Given the description of an element on the screen output the (x, y) to click on. 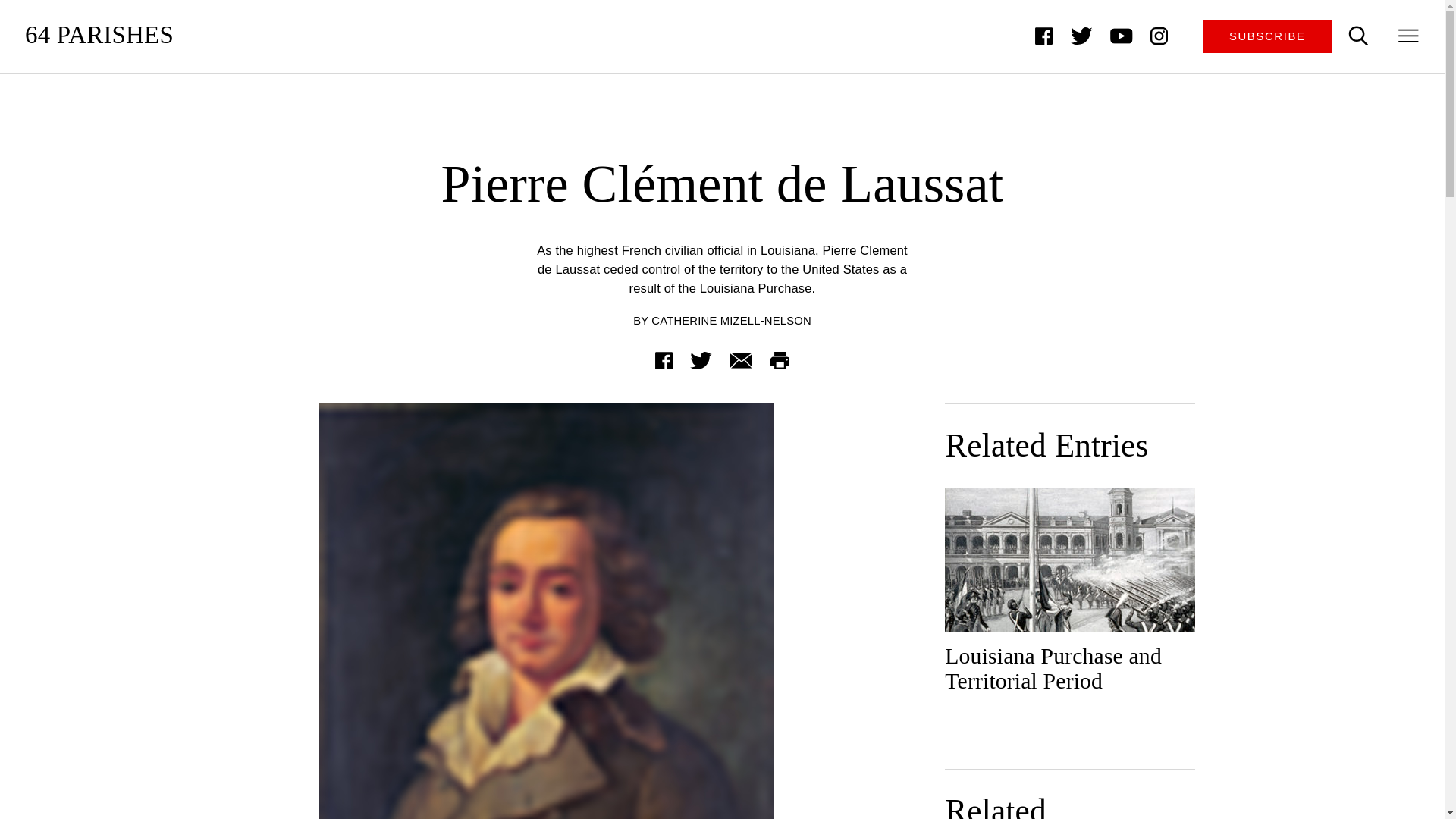
64 Parishes Home Page (98, 35)
Facebook (663, 360)
CATHERINE MIZELL-NELSON (730, 320)
Follow us on Twitter (1081, 36)
Follow us on YouTube (1121, 36)
SEARCH (1358, 35)
Print (779, 360)
Open the menu (1409, 35)
Follow us on Facebook (1043, 36)
Search the site (1358, 35)
Email (740, 360)
Share via Email (740, 360)
Twitter (700, 360)
instagram (1158, 36)
64 PARISHES (98, 35)
